Given the description of an element on the screen output the (x, y) to click on. 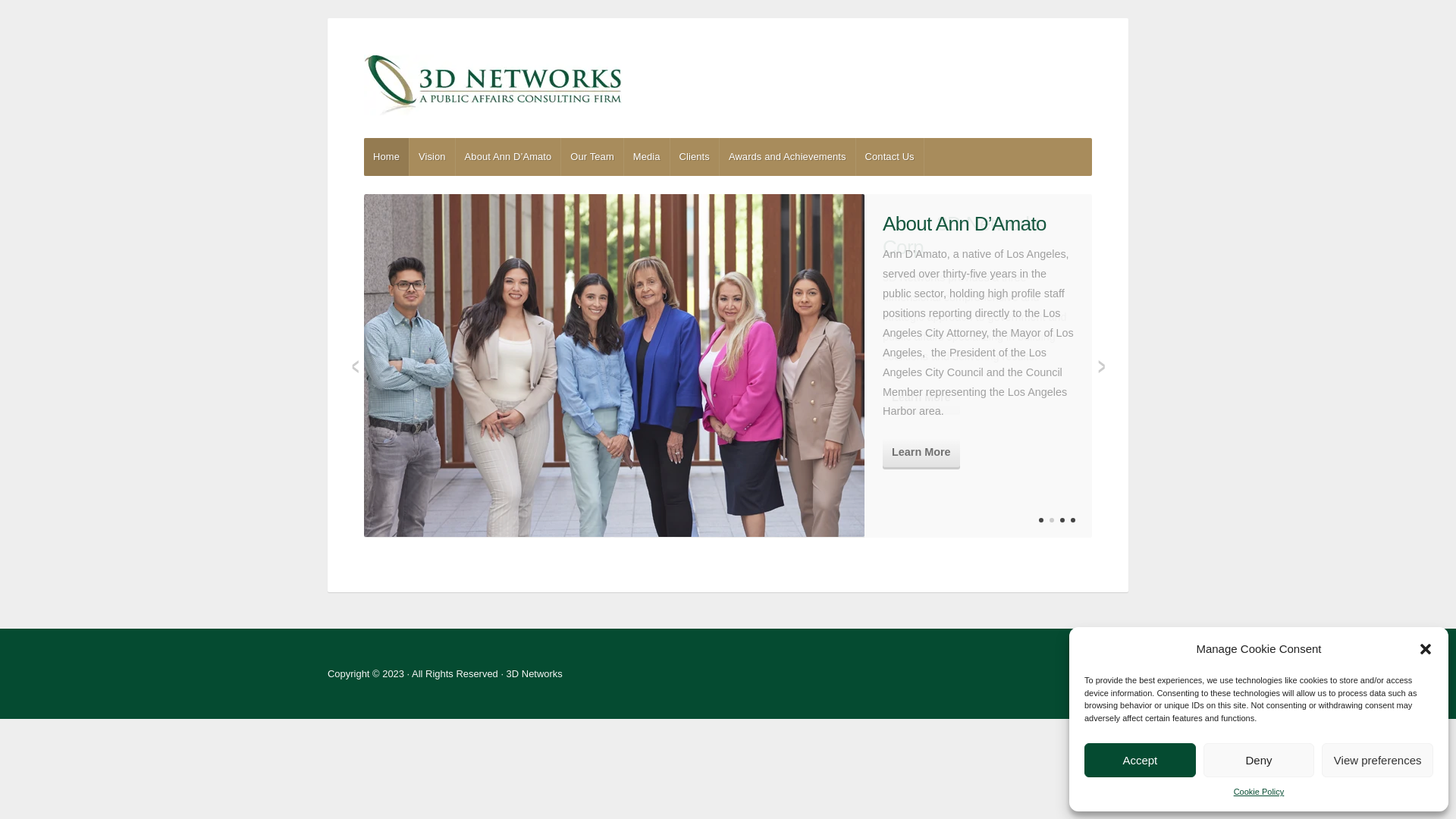
Media Element type: text (646, 156)
3D Networks Element type: text (728, 84)
Deny Element type: text (1258, 760)
Awards and Achievements Element type: text (787, 156)
Home Element type: text (386, 156)
View preferences Element type: text (1377, 760)
Accept Element type: text (1139, 760)
About 3D Networks Corp Element type: text (963, 235)
Learn More Element type: text (921, 397)
3 Element type: text (1062, 526)
Cookie Policy Element type: text (1258, 792)
Contact Us Element type: text (889, 156)
2 Element type: text (1051, 526)
Vision Element type: text (432, 156)
Permalink to About 3D Networks Corp Element type: hover (614, 368)
Clients Element type: text (694, 156)
Our Team Element type: text (591, 156)
4 Element type: text (1072, 526)
1 Element type: text (1040, 526)
